Given the description of an element on the screen output the (x, y) to click on. 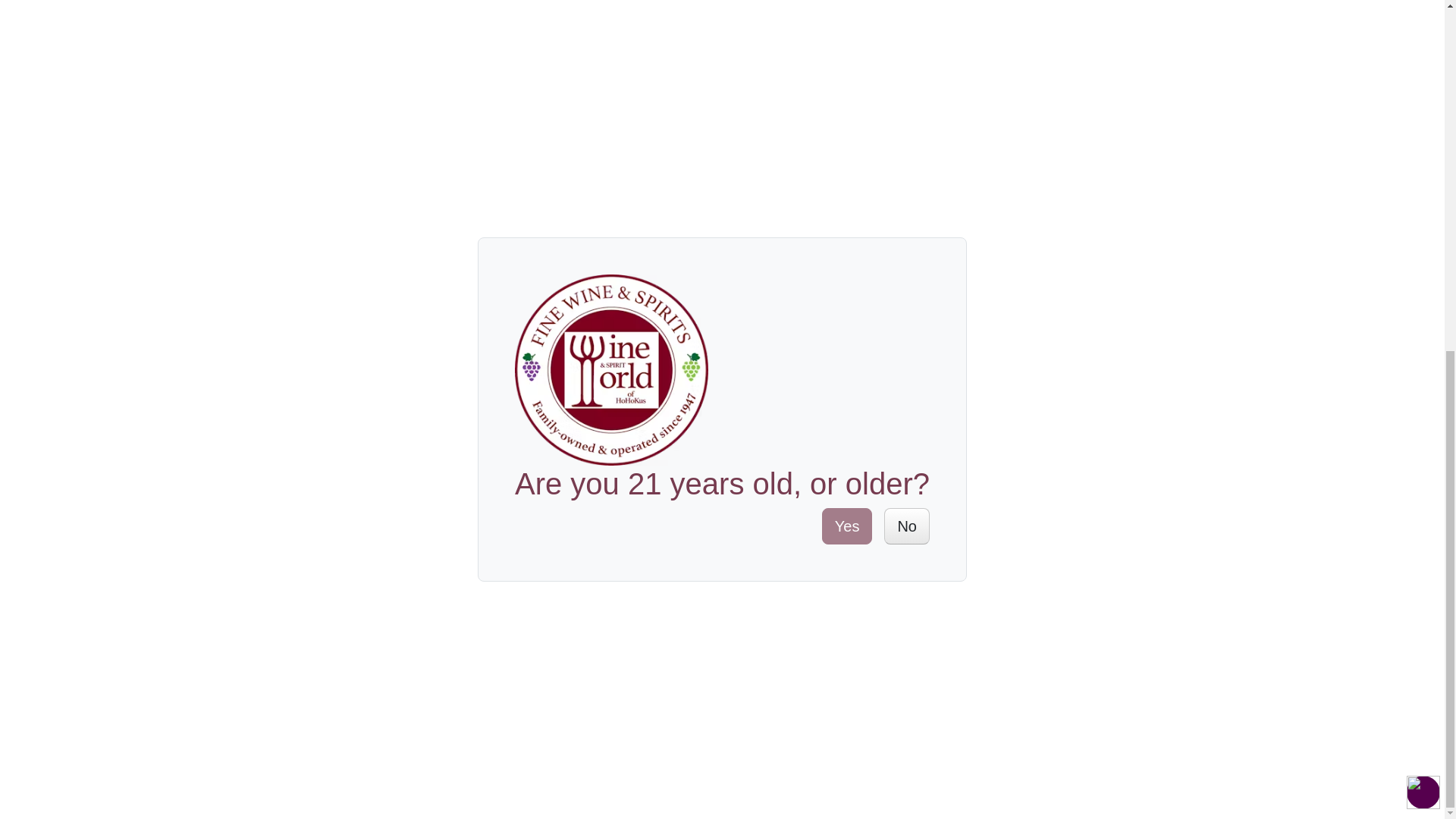
Bevan Ontogeny Proprietary Red 2021 750ml (352, 205)
Accessibility Menu (1422, 183)
Pott 'Kalihlmanok' Cabernet Sauvigonon 2017 750ml (844, 205)
Jeb Dunnuck 98 point rating (352, 255)
Buy (844, 367)
Buy (598, 367)
Bhakta 1990 Jamaican Rum 1990 750ml (598, 193)
Vinous 95 point rating (845, 255)
Buy (353, 367)
